Given the description of an element on the screen output the (x, y) to click on. 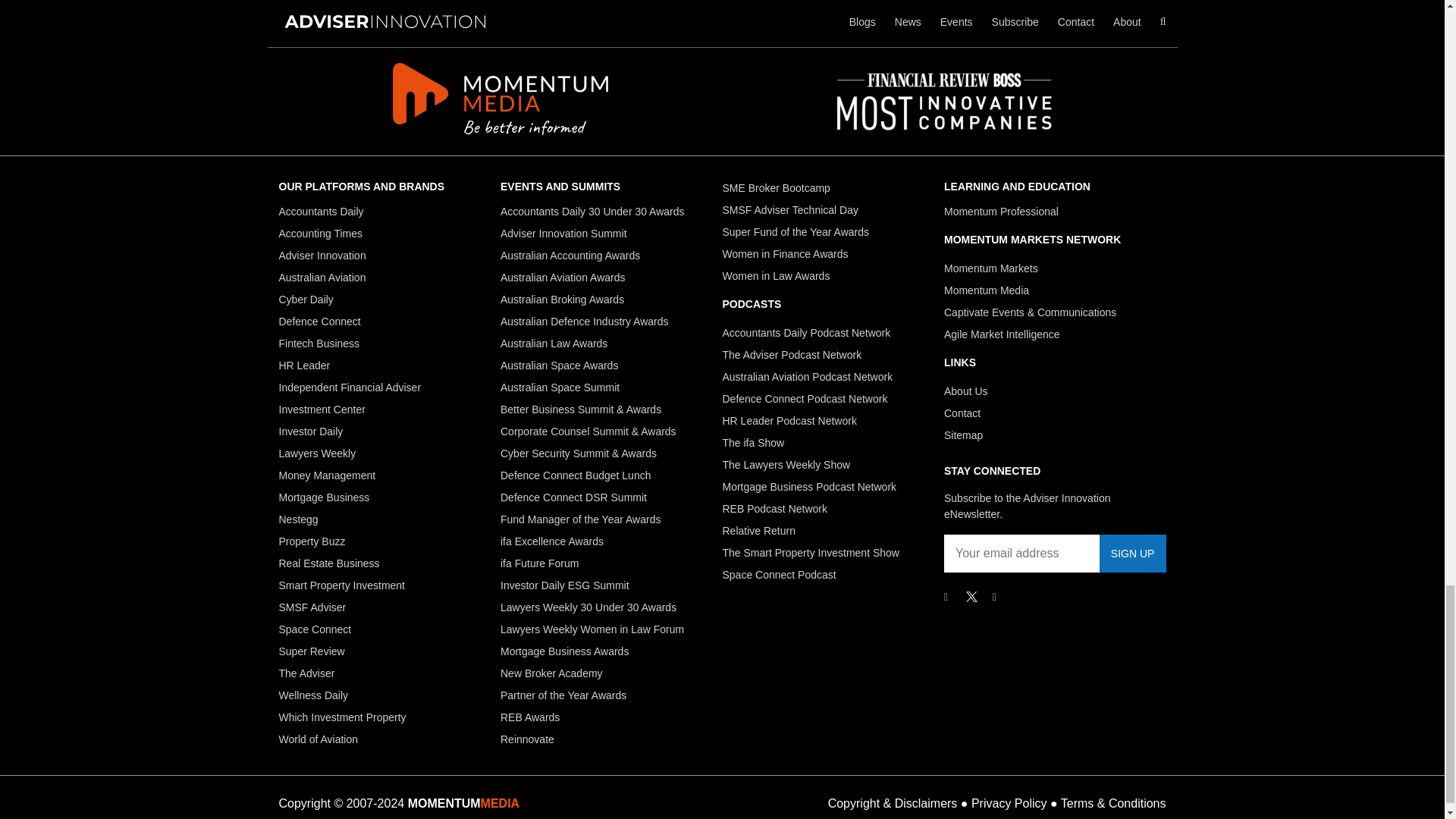
Sign up (1132, 553)
